Given the description of an element on the screen output the (x, y) to click on. 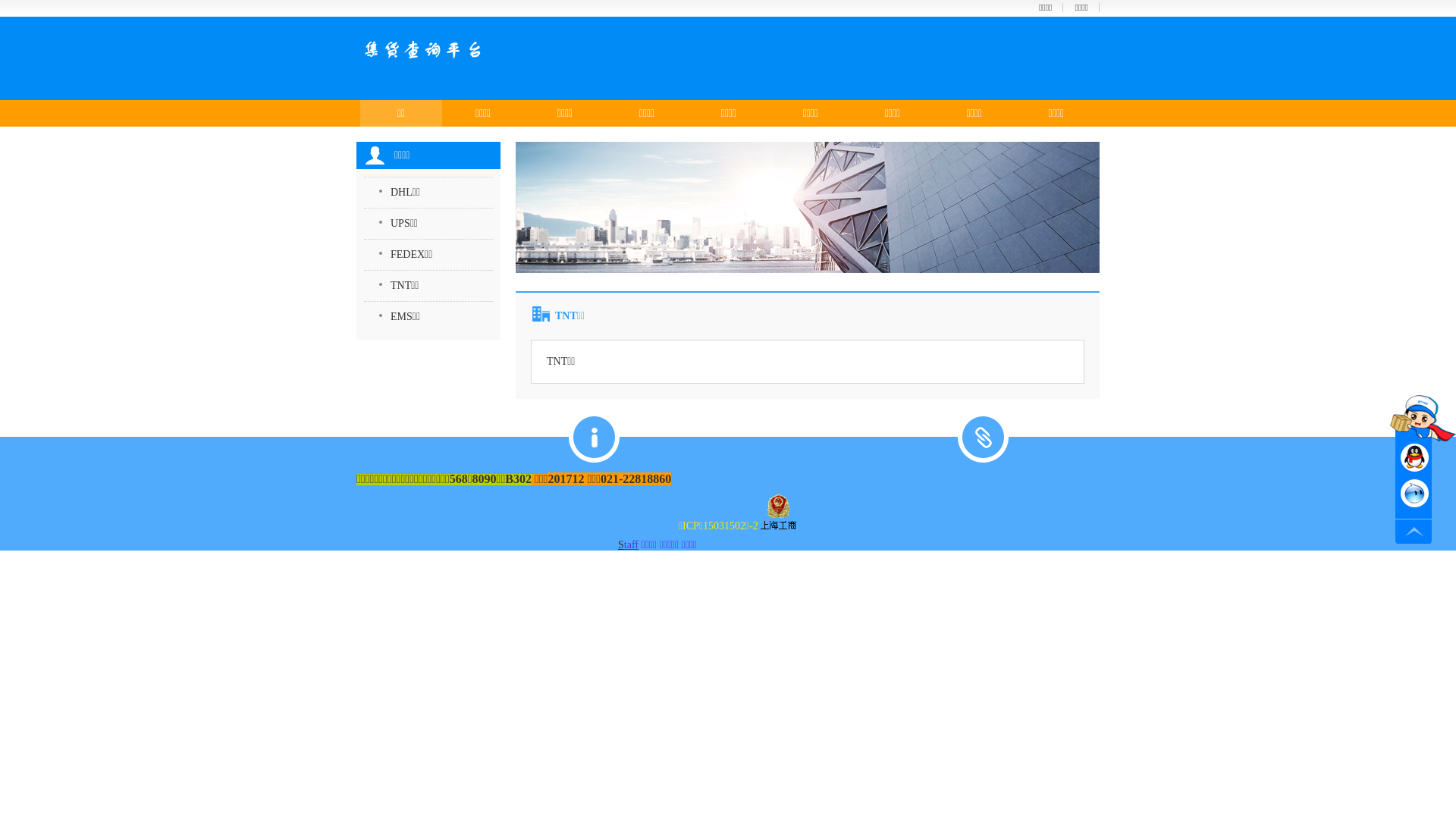
taff Element type: text (631, 544)
